Given the description of an element on the screen output the (x, y) to click on. 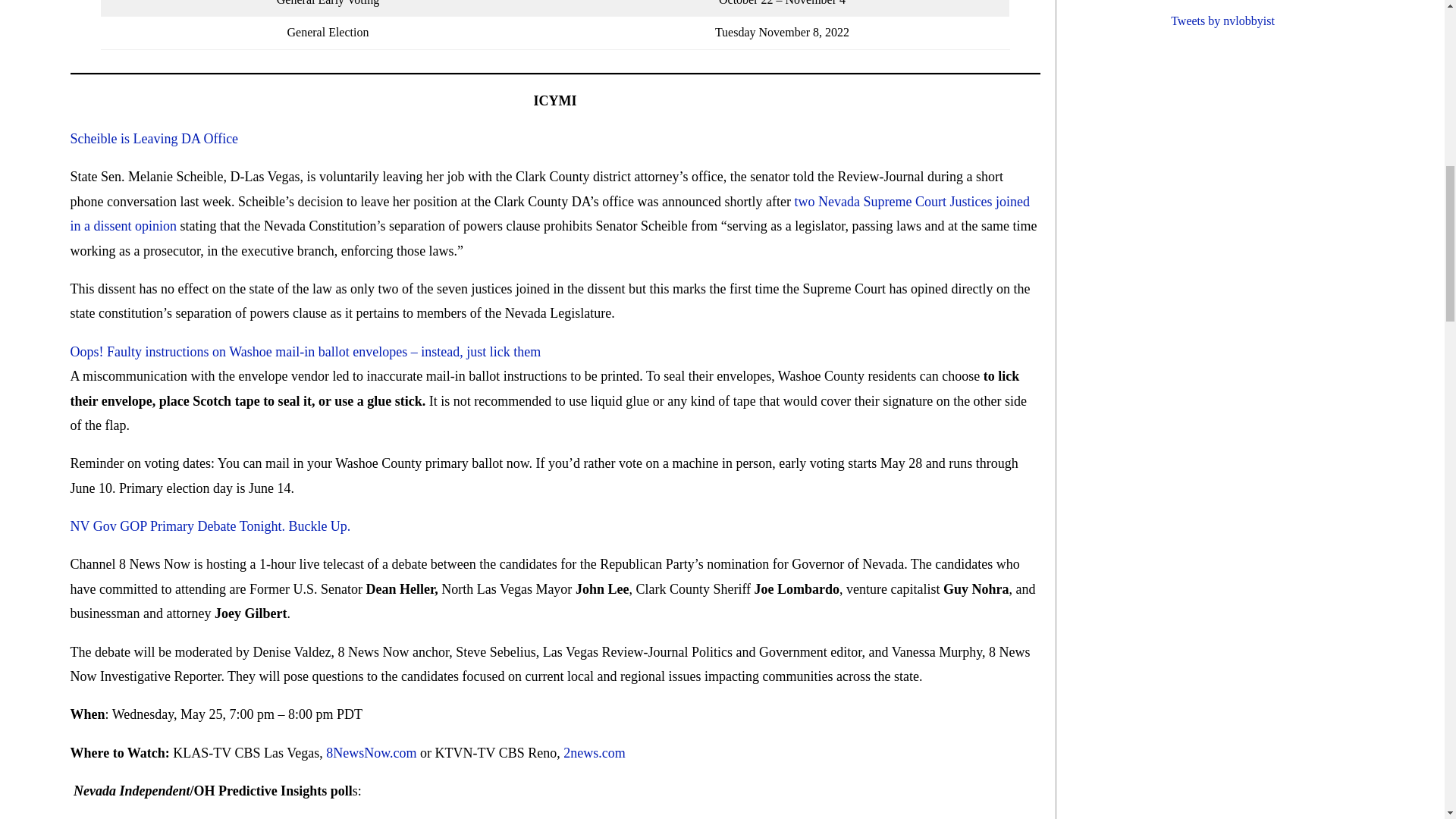
NV Gov GOP Primary Debate Tonight. Buckle Up. (209, 525)
Scheible is Leaving DA Office (153, 138)
Tweets by nvlobbyist (1222, 19)
2news.com (593, 752)
8NewsNow.com (371, 752)
